Given the description of an element on the screen output the (x, y) to click on. 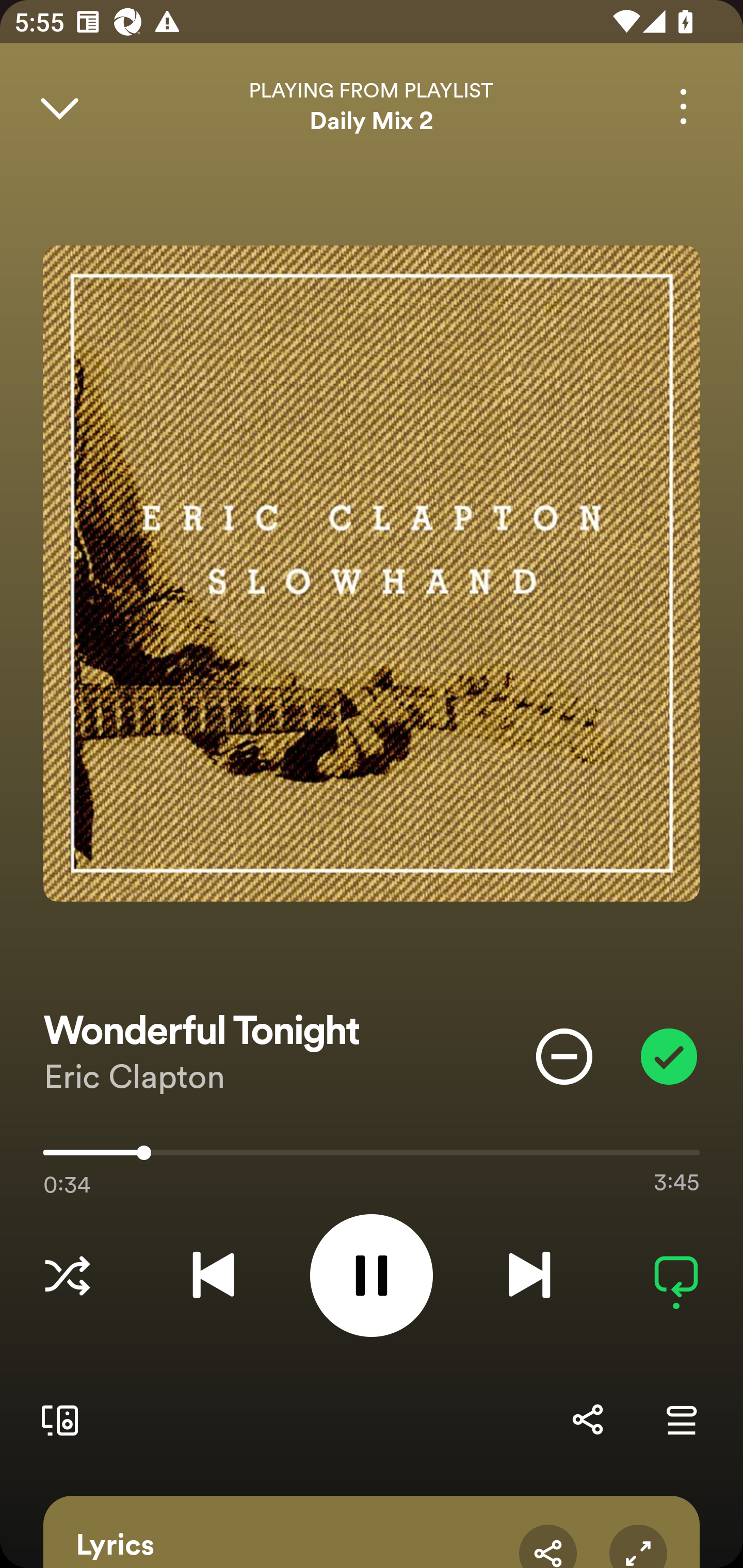
Close (59, 106)
More options for song Wonderful Tonight (683, 106)
PLAYING FROM PLAYLIST Daily Mix 2 (371, 106)
Don't play this (564, 1056)
Item added (669, 1056)
0:34 3:45 34113.0 Use volume keys to adjust (371, 1157)
Pause (371, 1275)
Previous (212, 1275)
Next (529, 1275)
Shuffle tracks (66, 1275)
Repeat (676, 1275)
Share (587, 1419)
Go to Queue (681, 1419)
Connect to a device. Opens the devices menu (55, 1419)
Lyrics Share Expand (371, 1531)
Share (547, 1546)
Expand (638, 1546)
